Given the description of an element on the screen output the (x, y) to click on. 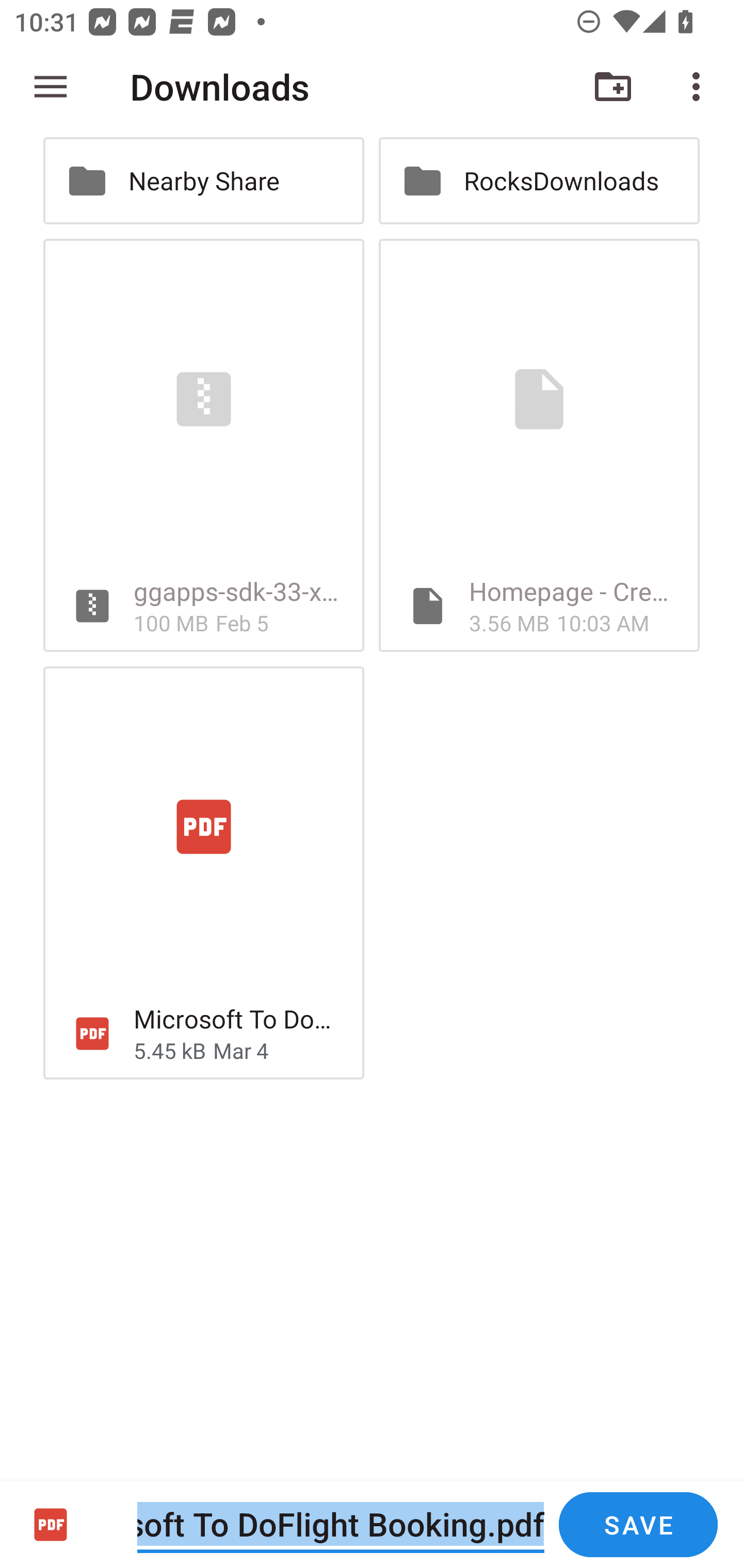
Show roots (50, 86)
New folder (612, 86)
More options (699, 86)
Nearby Share (203, 180)
RocksDownloads (538, 180)
ggapps-sdk-33-x86_64-20231003.zip 100 MB Feb 5 (203, 445)
Homepage - Creative Commons 3.56 MB 10:03 AM (538, 445)
Microsoft To DoFlight Booking.pdf 5.45 kB Mar 4 (203, 872)
SAVE (637, 1524)
Microsoft To DoFlight Booking.pdf (340, 1523)
